Given the description of an element on the screen output the (x, y) to click on. 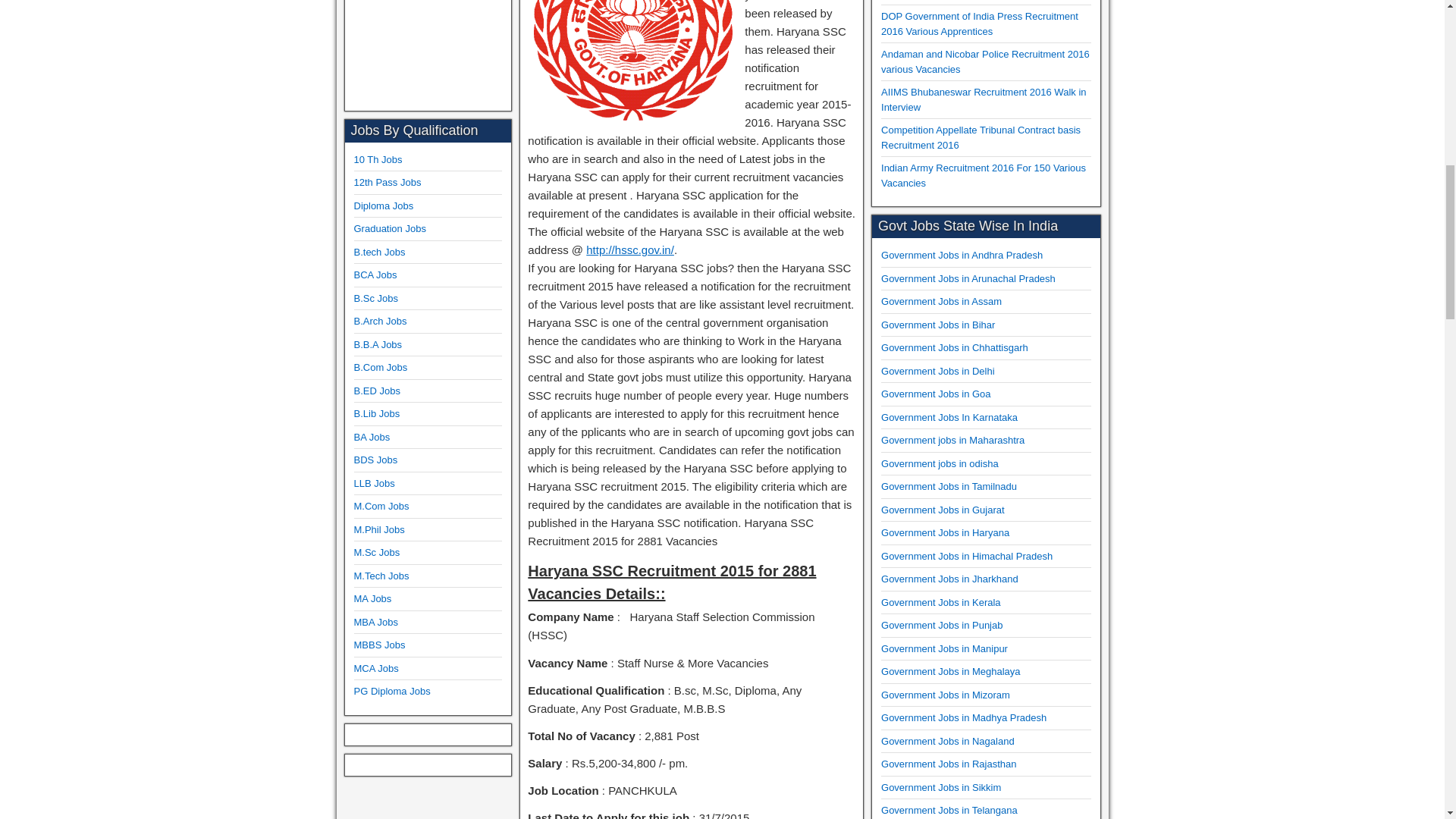
M.Com Jobs (381, 505)
12th Pass Jobs (386, 182)
B.tech Jobs (378, 251)
BDS Jobs (375, 460)
Graduation Jobs (389, 228)
10 Th Jobs (377, 159)
Diploma Jobs (383, 205)
B.Com Jobs (380, 367)
LLB Jobs (373, 482)
B.Lib Jobs (375, 413)
